Given the description of an element on the screen output the (x, y) to click on. 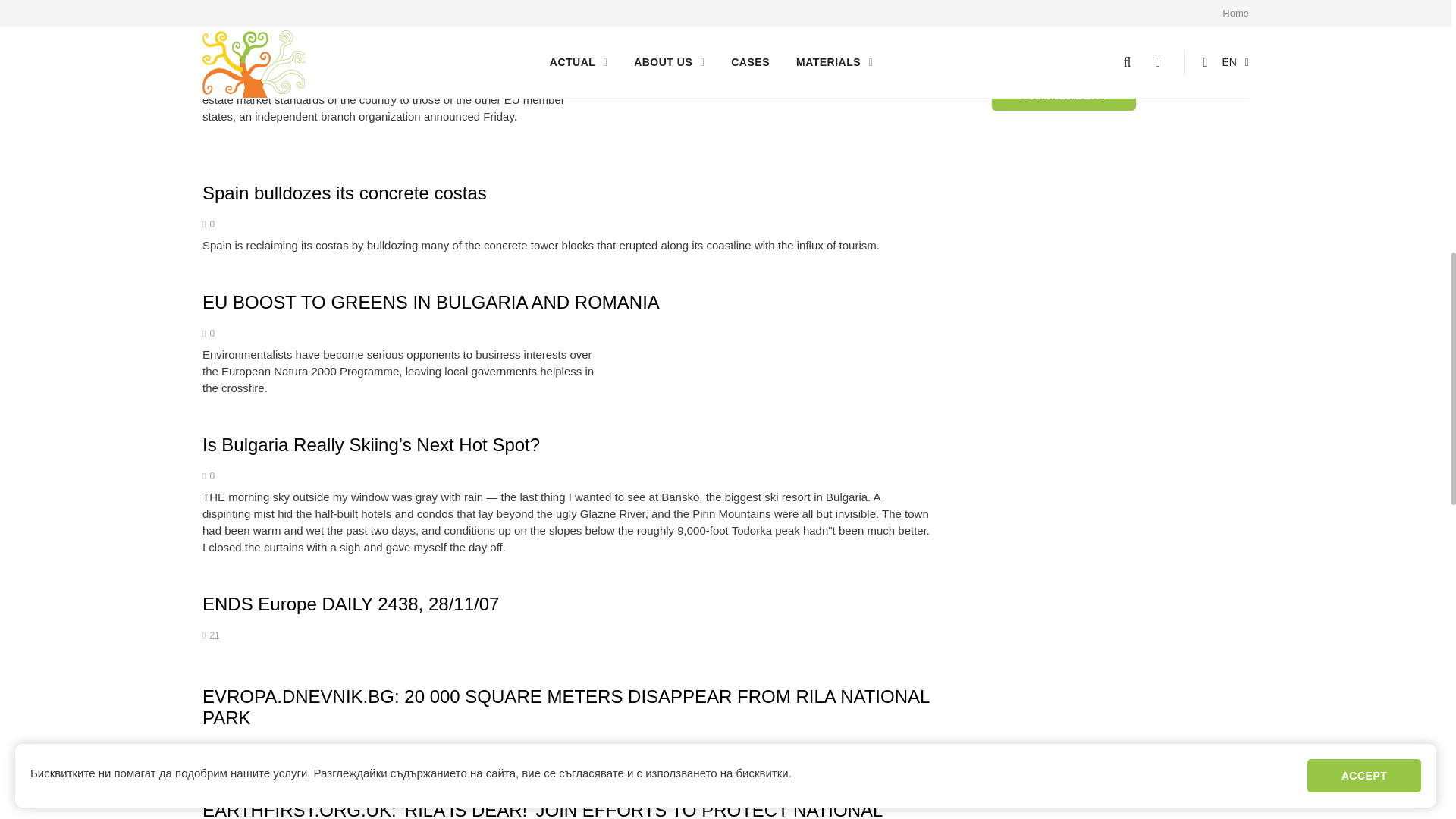
Spain bulldozes its concrete costas (344, 192)
EU BOOST TO GREENS IN BULGARIA AND ROMANIA (430, 301)
SOFIA WEEKLY (269, 30)
